Given the description of an element on the screen output the (x, y) to click on. 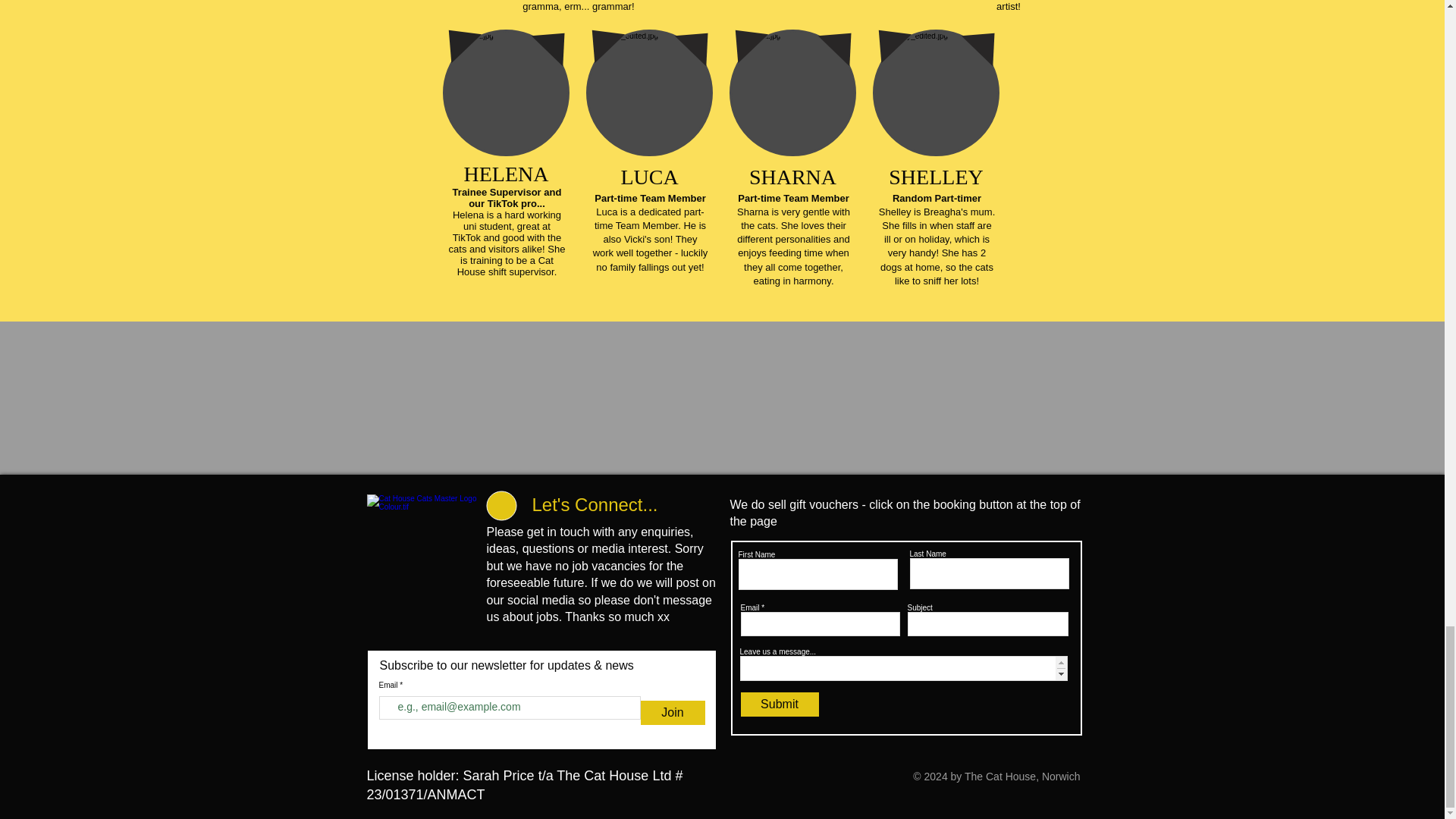
Join (672, 712)
Submit (778, 704)
Cat House circle logo 2023.JPG (422, 550)
